Given the description of an element on the screen output the (x, y) to click on. 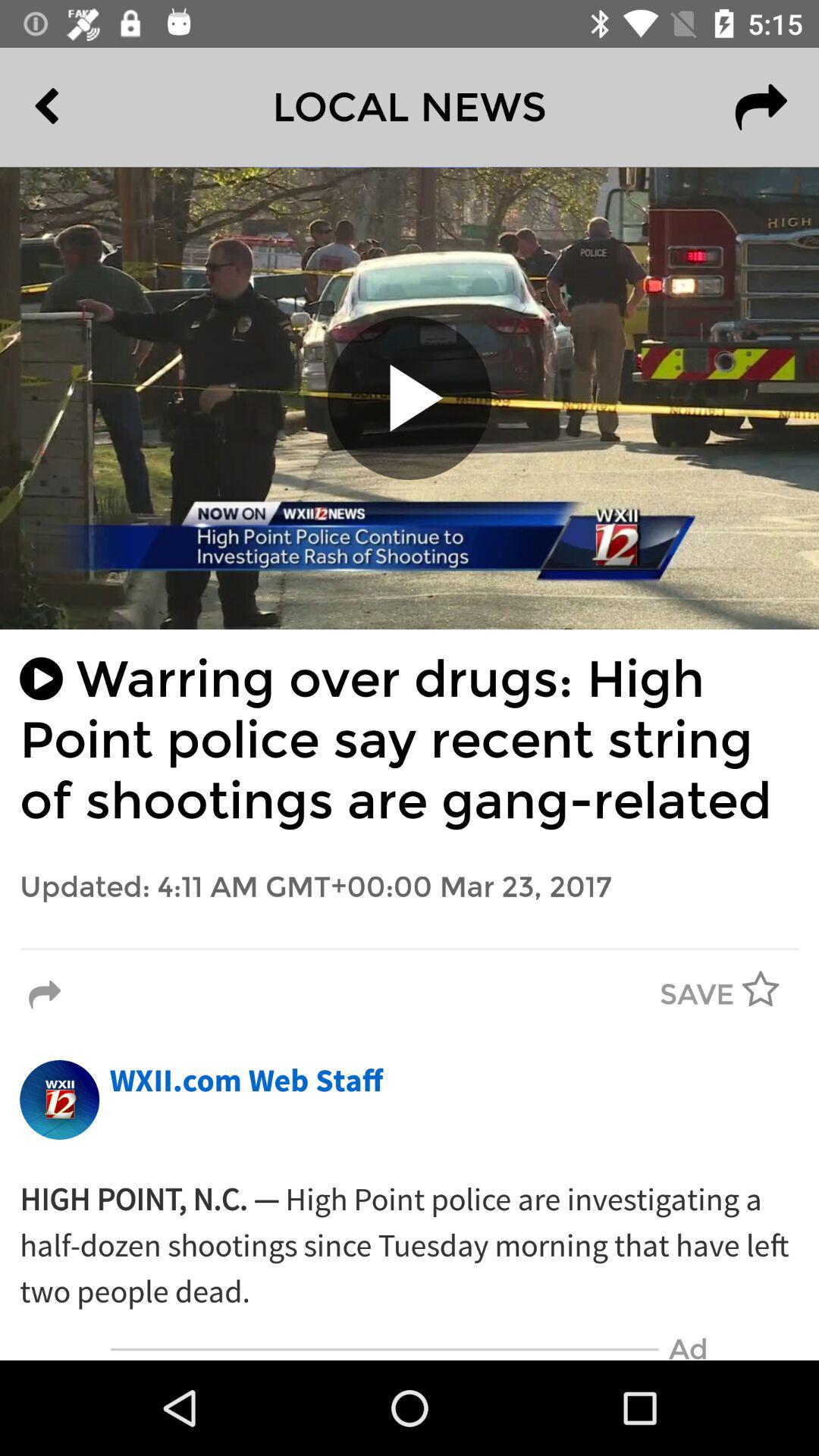
tap the item above updated 4 11 (409, 739)
